Given the description of an element on the screen output the (x, y) to click on. 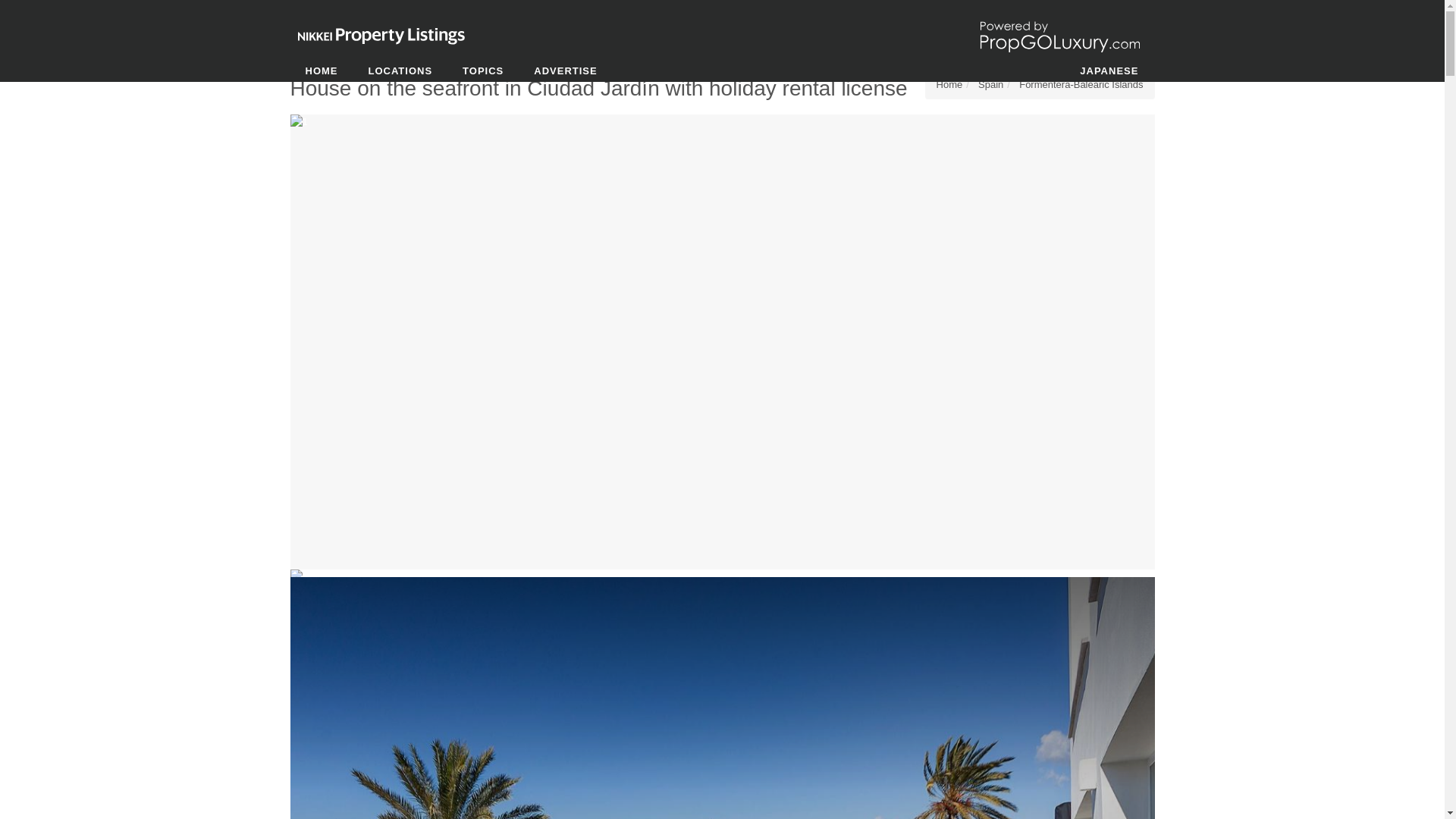
ADVERTISE (564, 71)
TOPICS (482, 71)
LOCATIONS (400, 71)
HOME (320, 71)
